Given the description of an element on the screen output the (x, y) to click on. 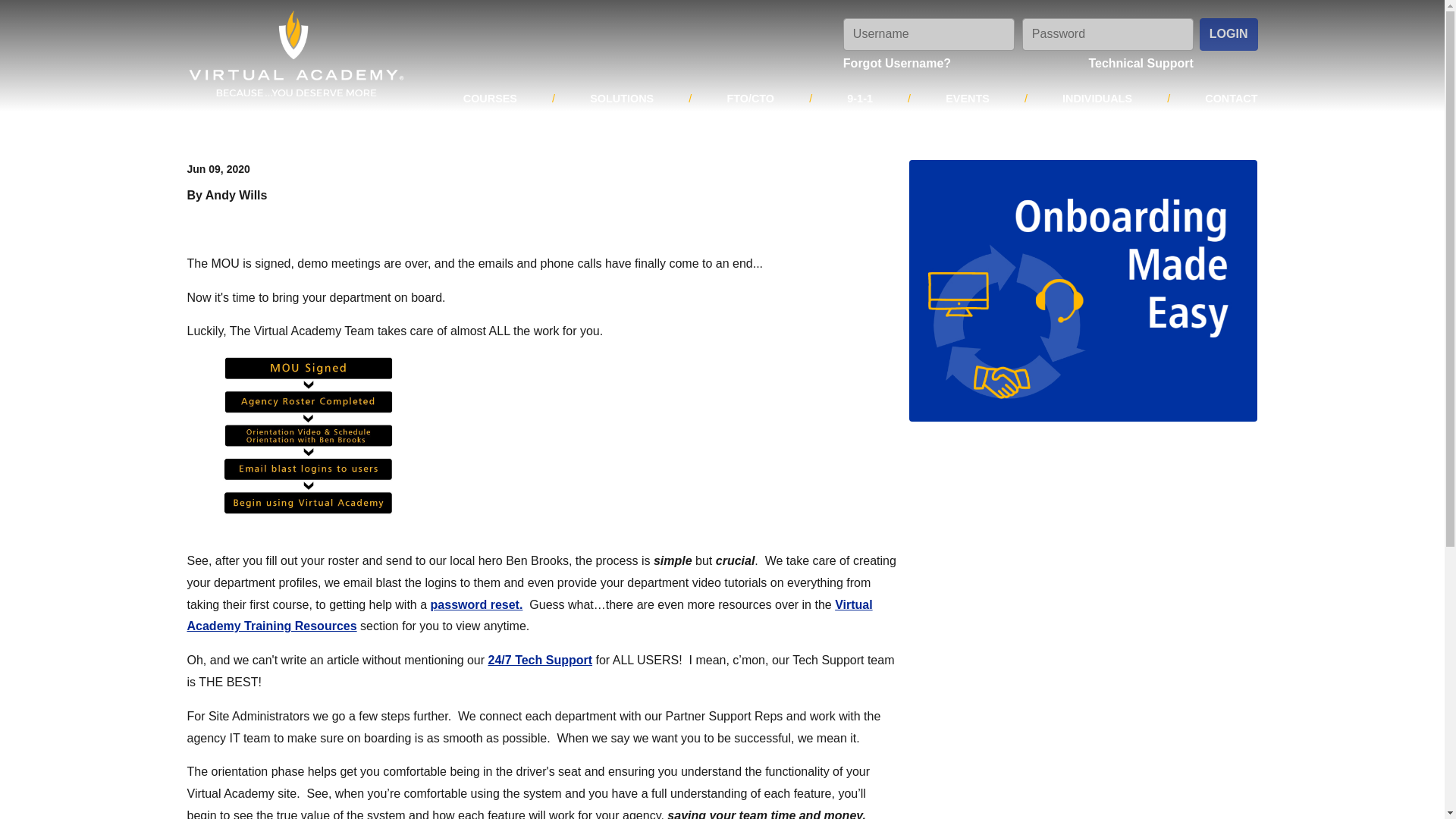
INDIVIDUALS (1097, 99)
COURSES (489, 99)
LOGIN (1228, 34)
password reset. (476, 604)
9-1-1 (860, 99)
Virtual Academy Training Resources (529, 615)
EVENTS (967, 99)
SOLUTIONS (621, 99)
CONTACT (1230, 99)
